Given the description of an element on the screen output the (x, y) to click on. 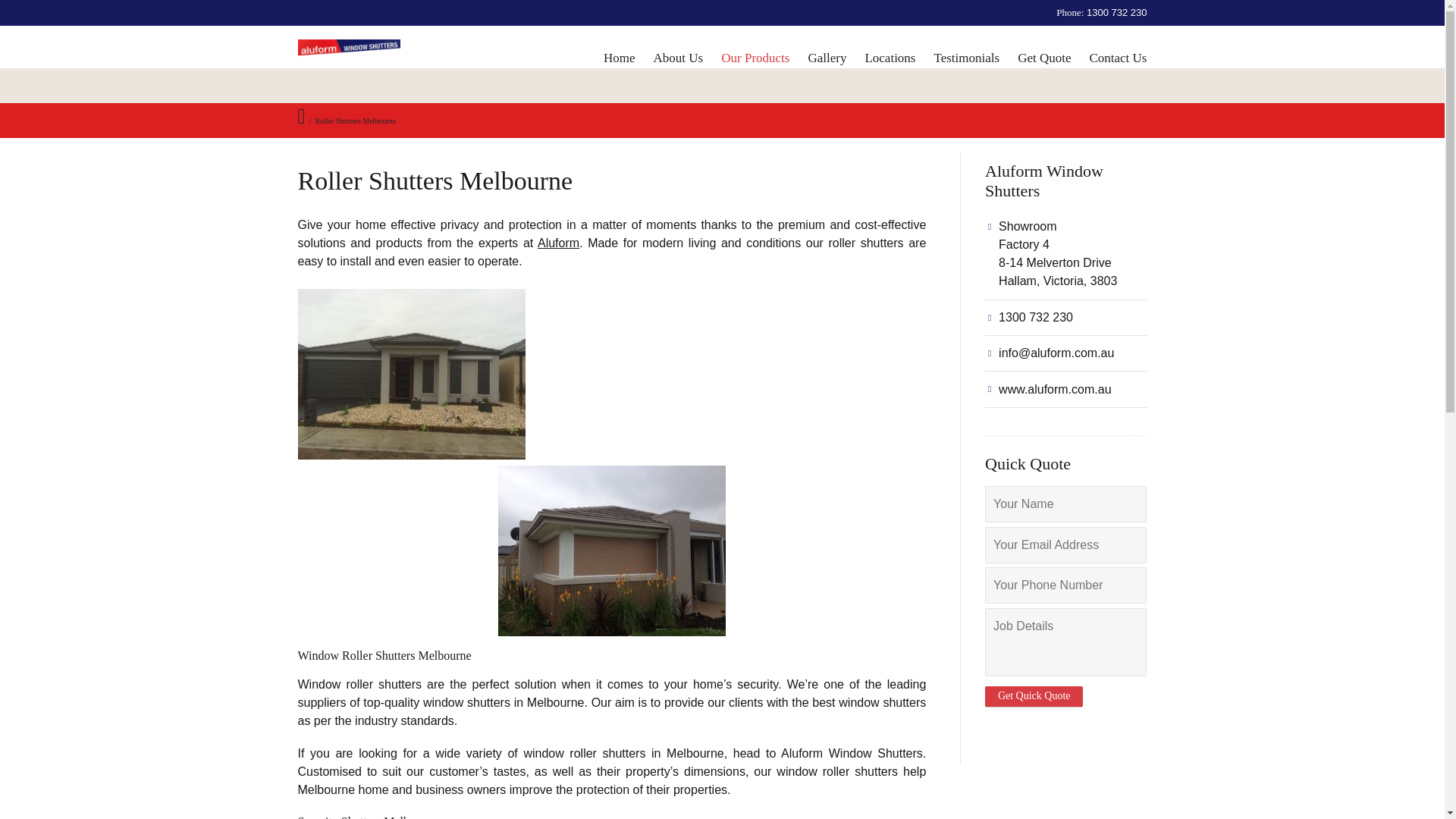
Locations (889, 62)
Gallery (826, 62)
www.aluform.com.au (1055, 389)
Home (619, 62)
1300 732 230 (1035, 317)
Our Products (754, 62)
Get Quick Quote (1034, 696)
Contact Us (1118, 62)
Get Quote (1043, 62)
Testimonials (965, 62)
Get Quick Quote (1034, 696)
Aluform (558, 242)
About Us (678, 62)
1300 732 230 (1115, 12)
